Given the description of an element on the screen output the (x, y) to click on. 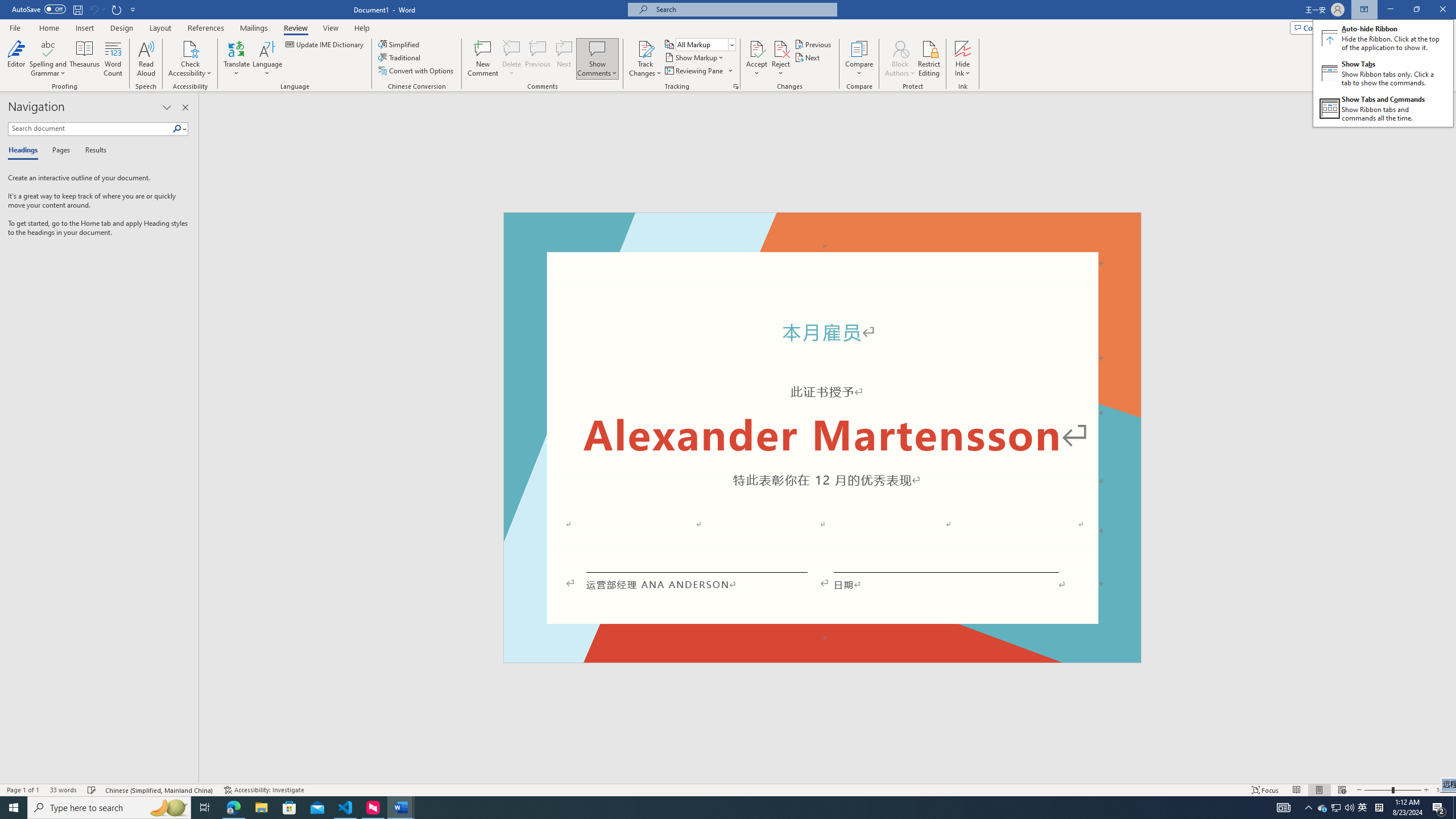
Tray Input Indicator - Chinese (Simplified, China) (1378, 807)
Previous (813, 44)
Accessibility Checker Accessibility: Investigate (263, 790)
Microsoft Edge - 1 running window (233, 807)
Block Authors (1362, 807)
Accept (900, 48)
Reject and Move to Next (756, 58)
Type here to search (780, 48)
Page 1 content (108, 807)
Convert with Options... (822, 445)
